Given the description of an element on the screen output the (x, y) to click on. 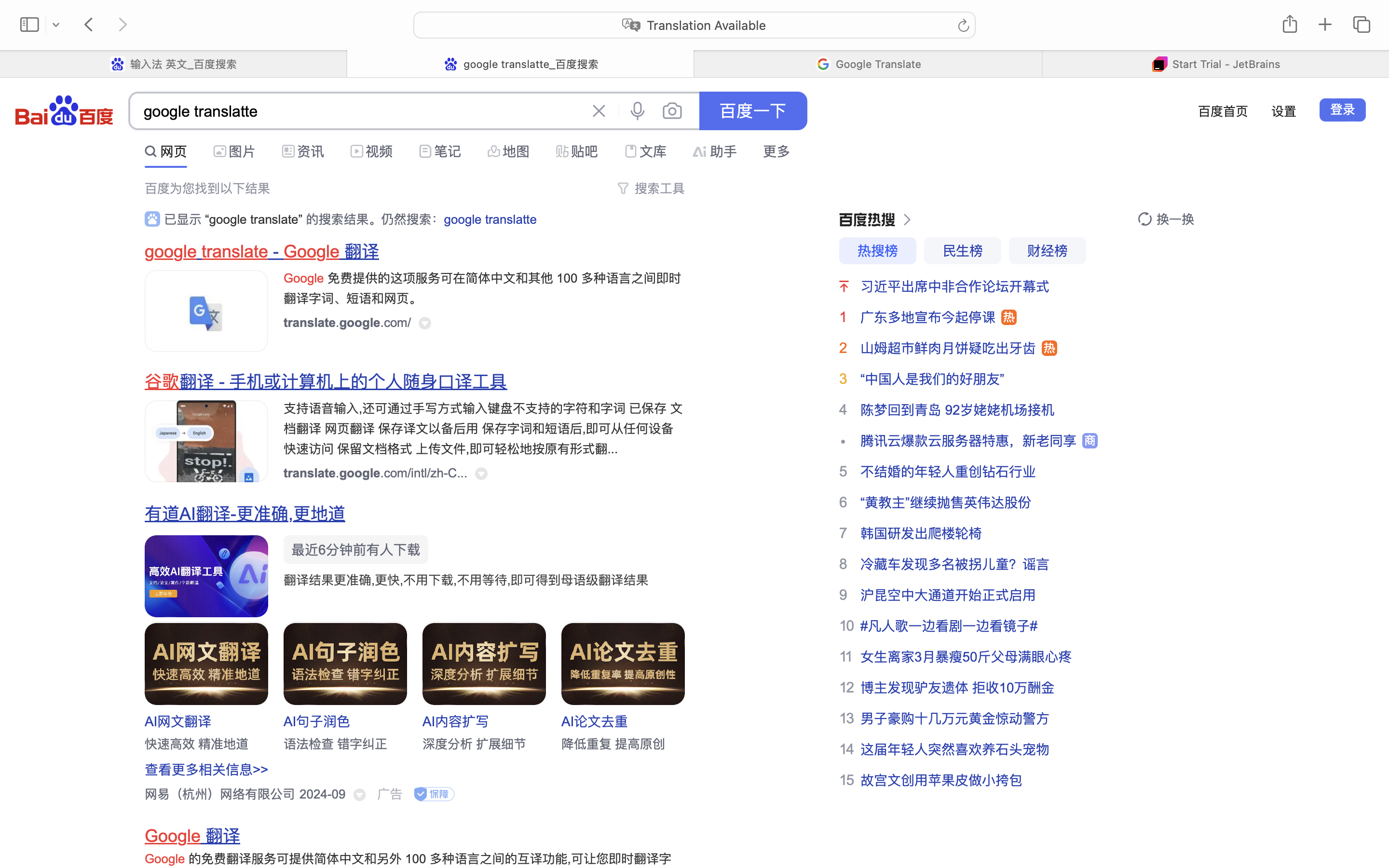
13 Element type: AXStaticText (846, 717)
 Element type: AXStaticText (867, 219)
9 Element type: AXStaticText (842, 594)
所有网页和文件 Element type: AXStaticText (281, 148)
 Element type: AXStaticText (562, 151)
